Given the description of an element on the screen output the (x, y) to click on. 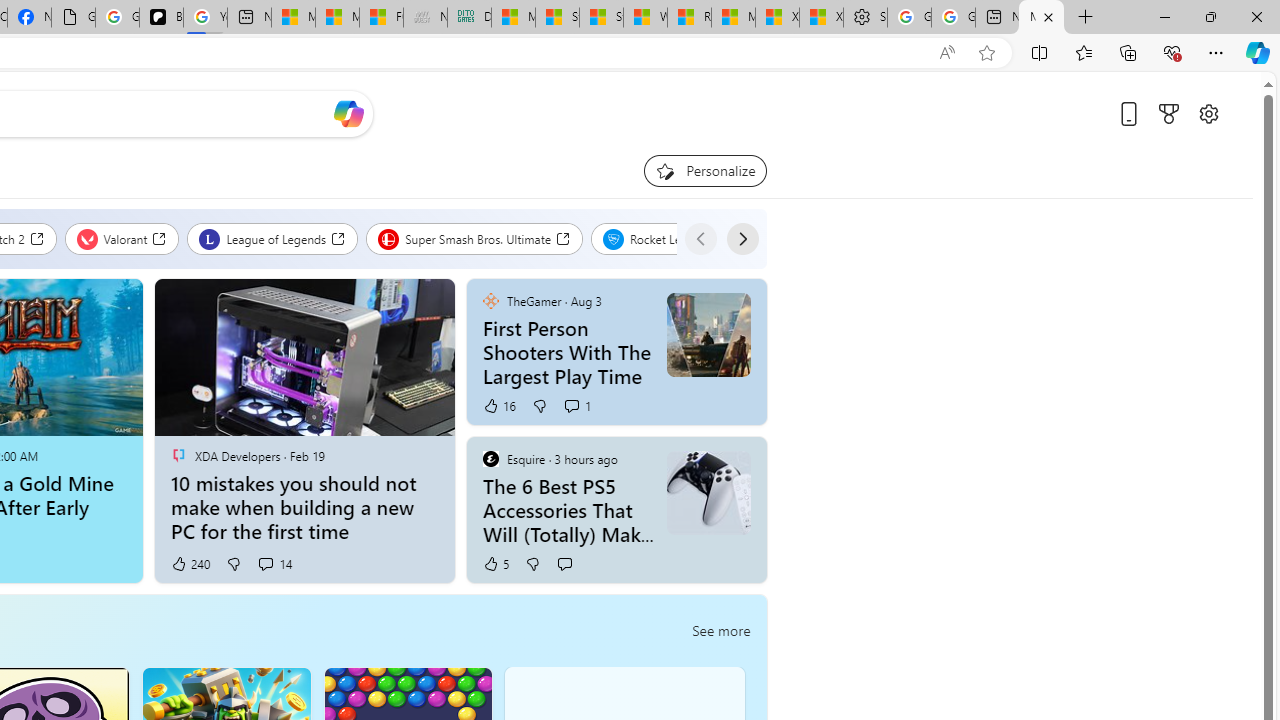
New tab (996, 17)
See more (742, 460)
View comments 1 Comment (571, 405)
16 Like (498, 405)
Navy Quest (425, 17)
Microsoft rewards (1169, 113)
View comments 14 Comment (265, 563)
TheGamer (490, 300)
Personalize your feed" (704, 170)
Stocks - MSN (601, 17)
Previous (699, 238)
